Given the description of an element on the screen output the (x, y) to click on. 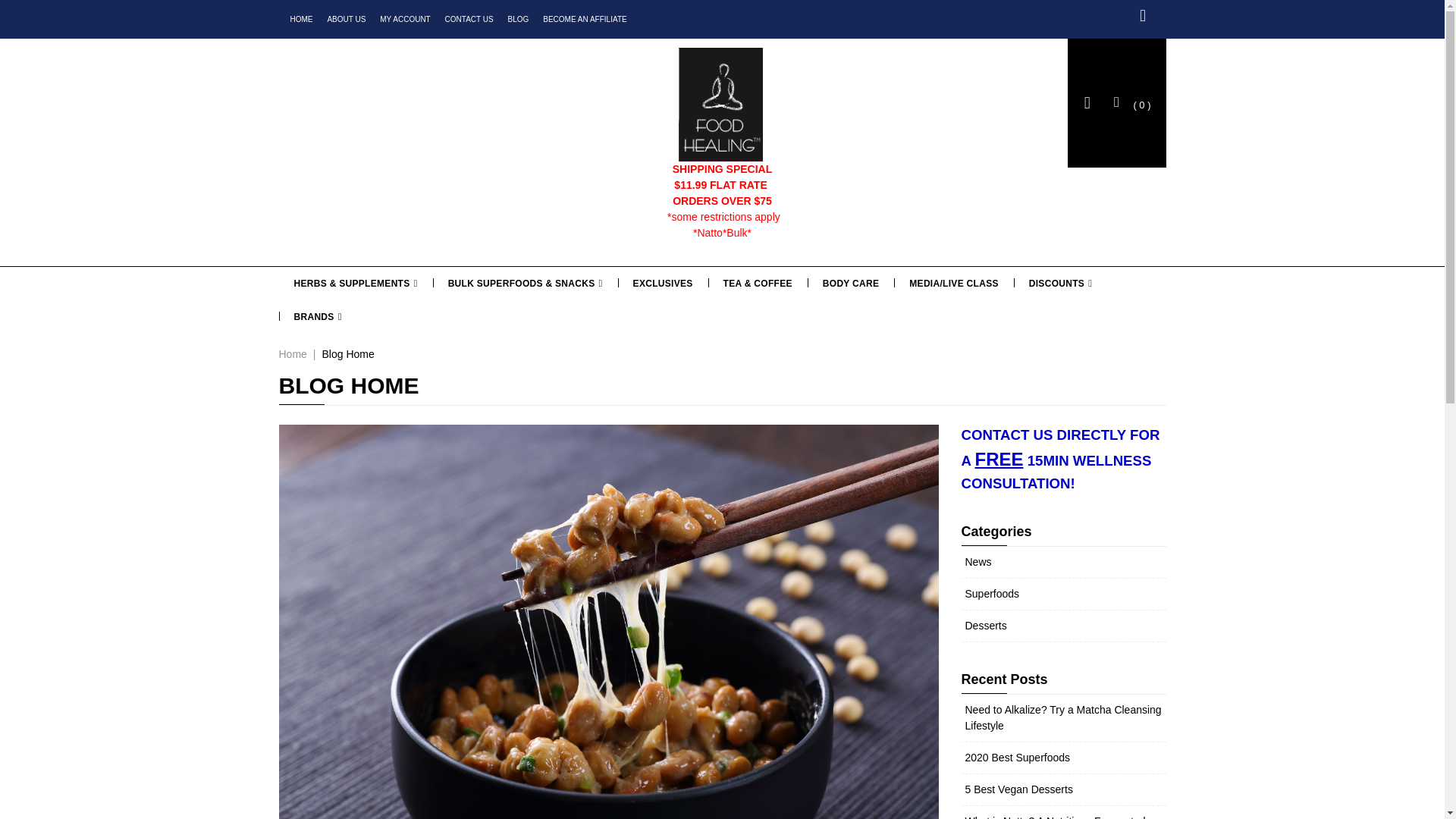
HOME (301, 19)
CONTACT US (469, 19)
EXCLUSIVES (662, 283)
DISCOUNTS (1059, 283)
BODY CARE (851, 283)
BECOME AN AFFILIATE (584, 19)
ABOUT US (345, 19)
MY ACCOUNT (405, 19)
BRANDS (317, 316)
BLOG (518, 19)
